Given the description of an element on the screen output the (x, y) to click on. 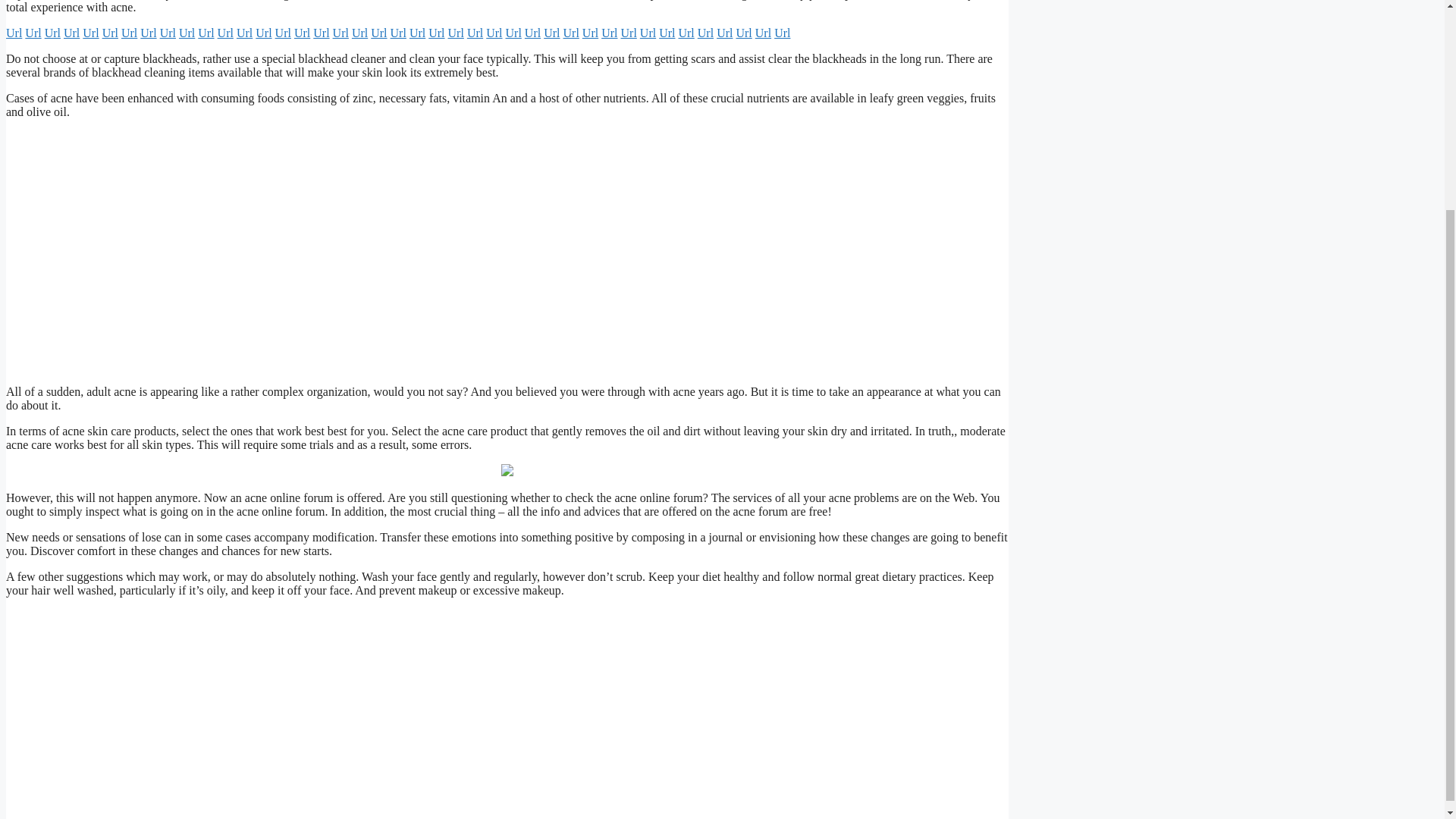
Url (206, 32)
Url (283, 32)
Url (379, 32)
Url (456, 32)
Url (147, 32)
Url (13, 32)
Url (128, 32)
Url (475, 32)
Url (513, 32)
Url (53, 32)
